Given the description of an element on the screen output the (x, y) to click on. 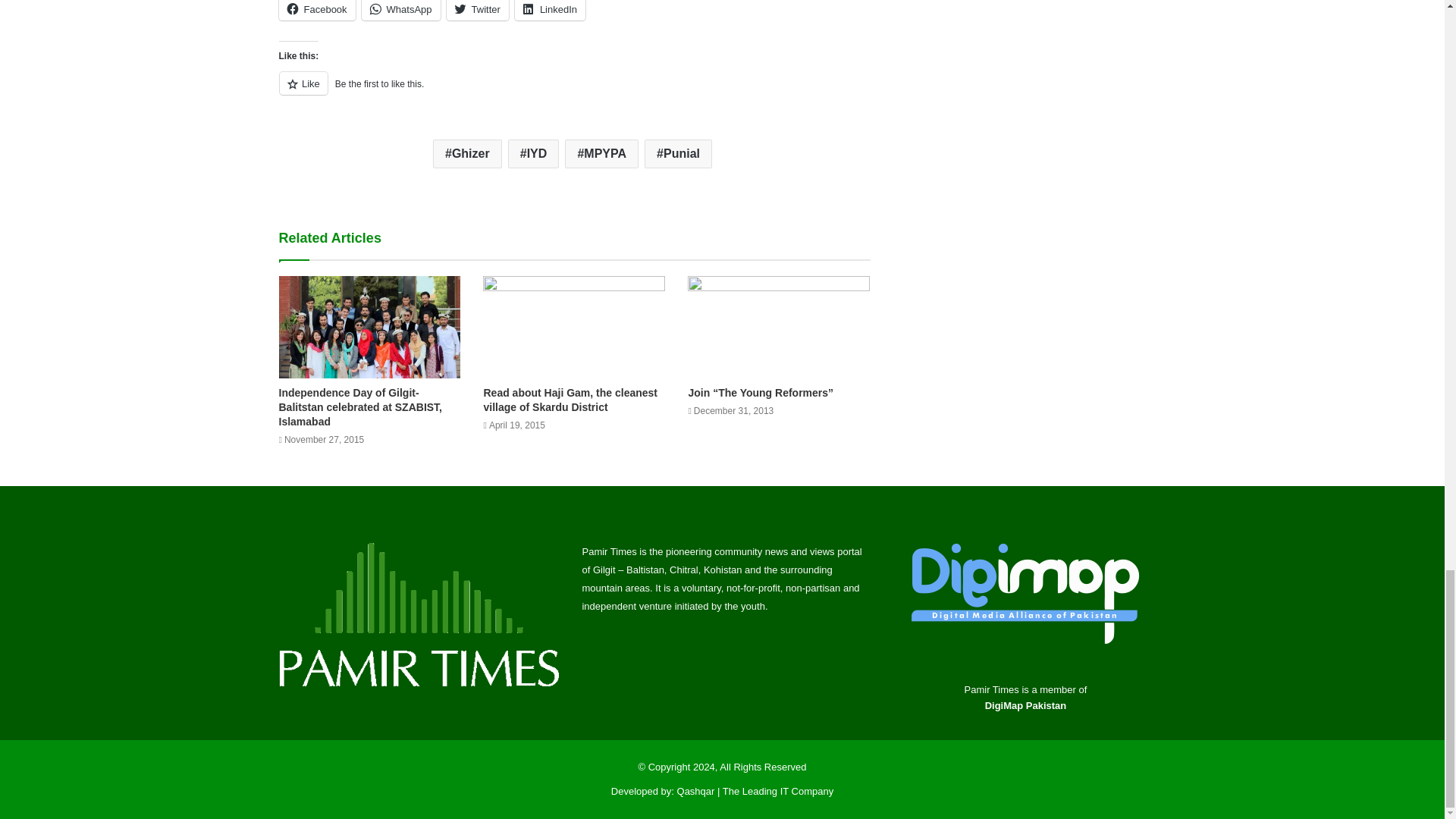
Punial (678, 153)
Facebook (317, 10)
Like or Reblog (574, 92)
Click to share on WhatsApp (401, 10)
WhatsApp (401, 10)
MPYPA (601, 153)
Ghizer (467, 153)
Click to share on LinkedIn (550, 10)
LinkedIn (550, 10)
IYD (533, 153)
Click to share on Facebook (317, 10)
Twitter (477, 10)
Click to share on Twitter (477, 10)
